Given the description of an element on the screen output the (x, y) to click on. 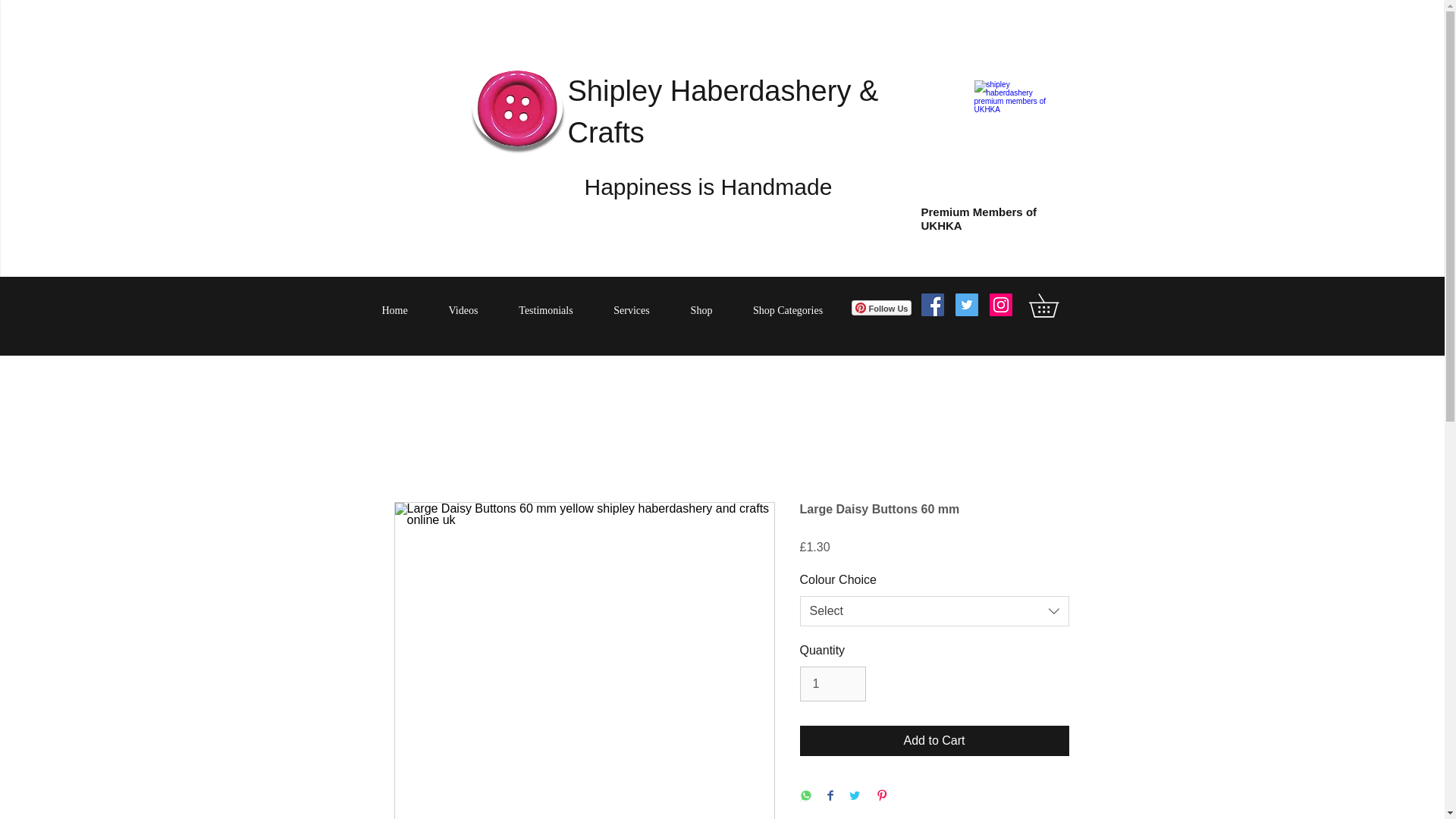
Testimonials (546, 310)
1 (831, 683)
Shop (701, 310)
Home (394, 310)
Videos (462, 310)
Services (630, 310)
Follow Us (880, 307)
Follow Us (880, 307)
